Given the description of an element on the screen output the (x, y) to click on. 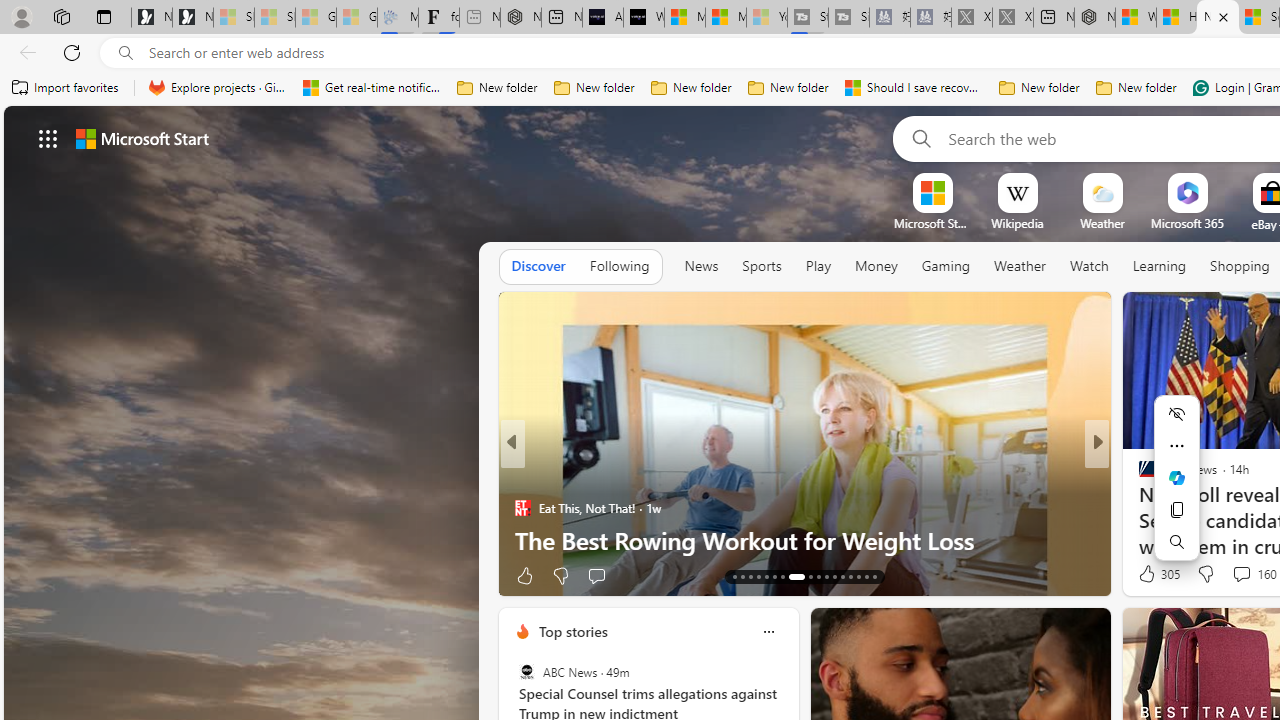
Weather (1019, 267)
Dislike (1204, 574)
Workspaces (61, 16)
Discover (538, 265)
AutomationID: tab-21 (806, 576)
What's the best AI voice generator? - voice.ai (643, 17)
Learning (1159, 267)
View comments 5 Comment (1234, 574)
AutomationID: tab-23 (825, 576)
Wildlife - MSN (1135, 17)
Money (876, 267)
Kathy Kingsley (1138, 475)
New tab - Sleeping (479, 17)
Liron Segev (1138, 507)
AutomationID: tab-41 (857, 576)
